Given the description of an element on the screen output the (x, y) to click on. 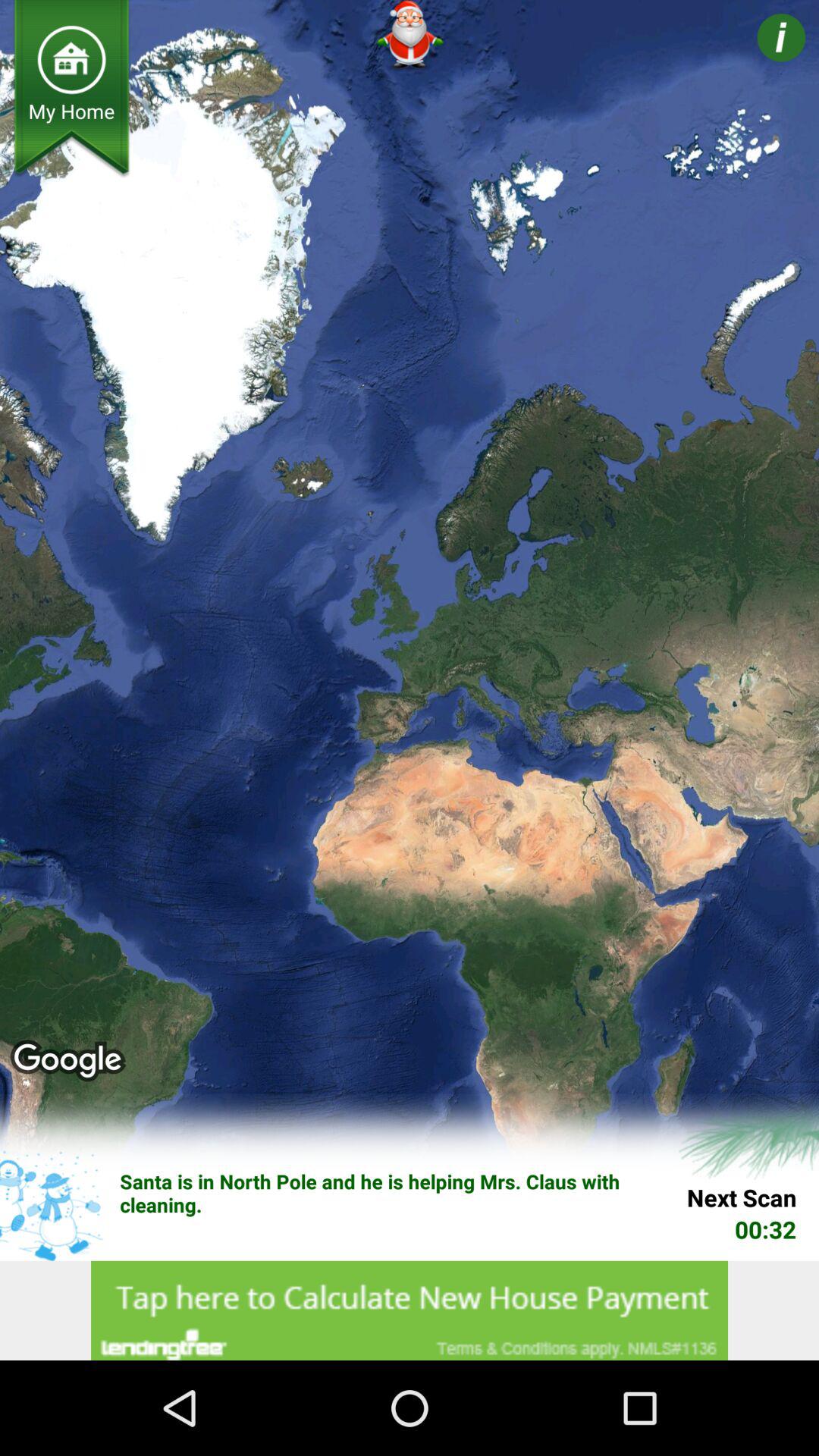
home page (71, 59)
